Given the description of an element on the screen output the (x, y) to click on. 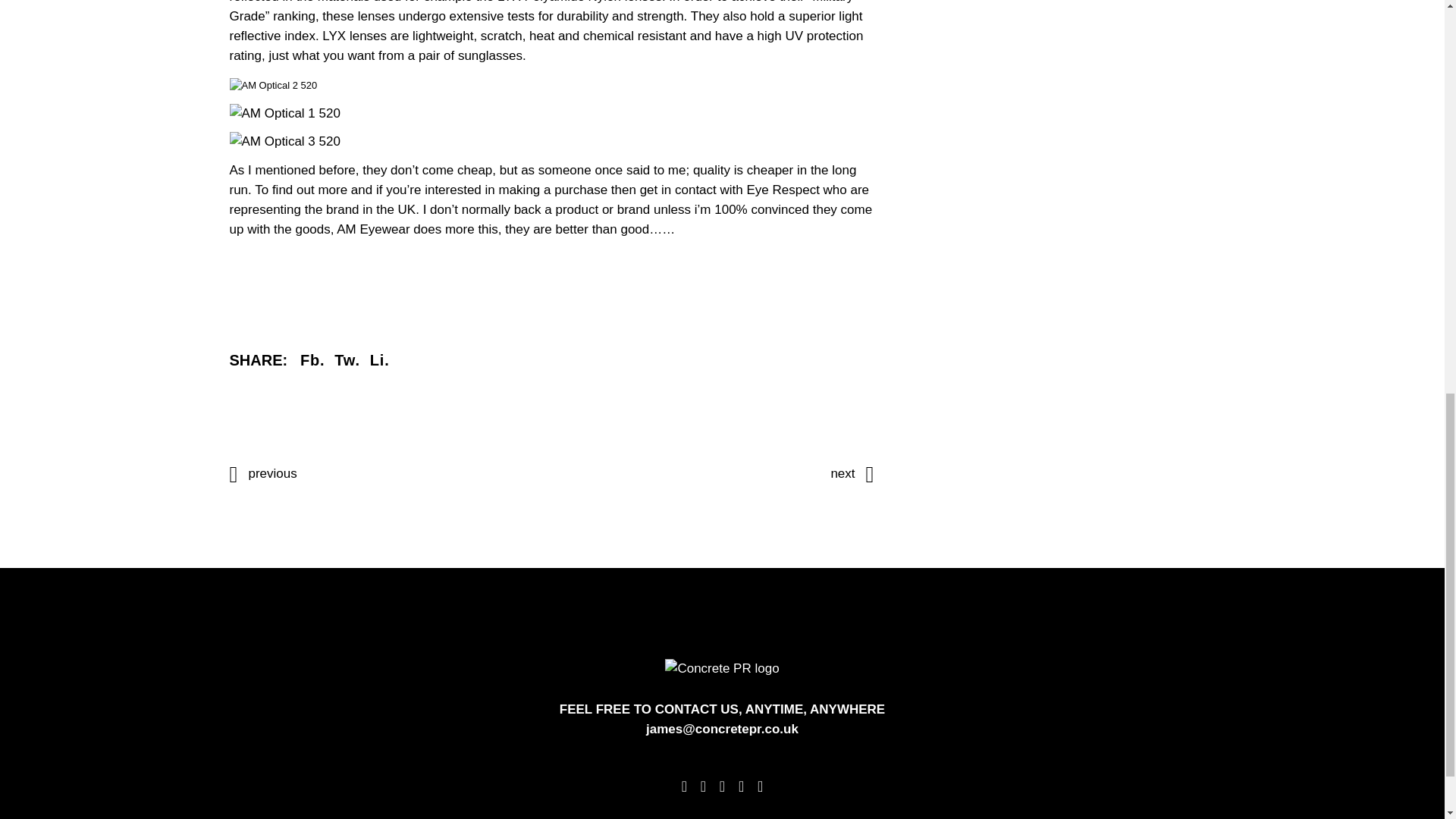
Eye Respect (781, 189)
